Given the description of an element on the screen output the (x, y) to click on. 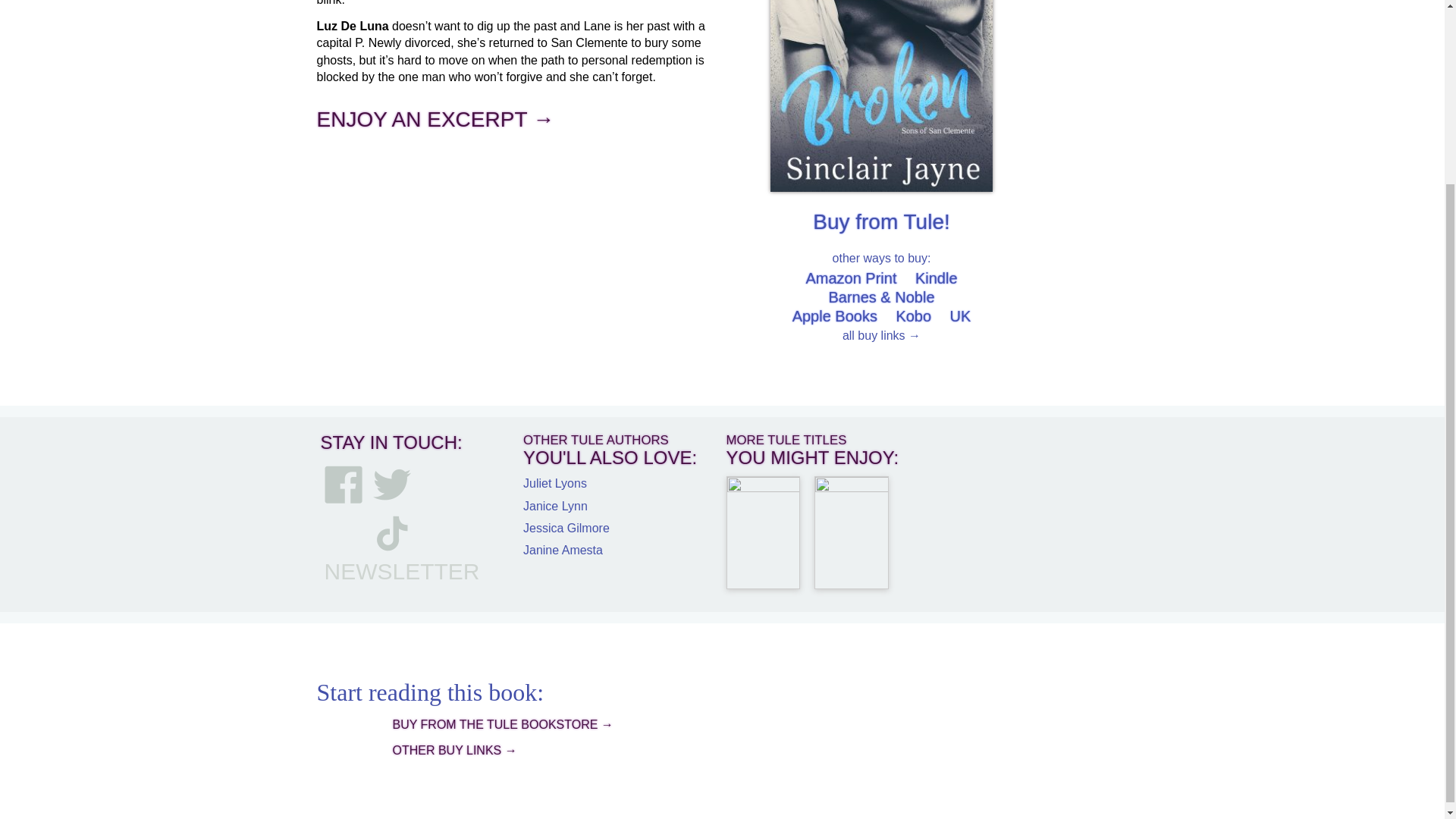
Kobo (913, 315)
Juliet Lyons (554, 482)
UK (960, 315)
TikTok (391, 533)
Kindle (936, 278)
Twitter (391, 484)
NEWSLETTER (402, 571)
Apple Books (834, 315)
Instagram (343, 533)
Buy from Tule! (881, 221)
Facebook (343, 484)
Amazon Print (850, 278)
